Given the description of an element on the screen output the (x, y) to click on. 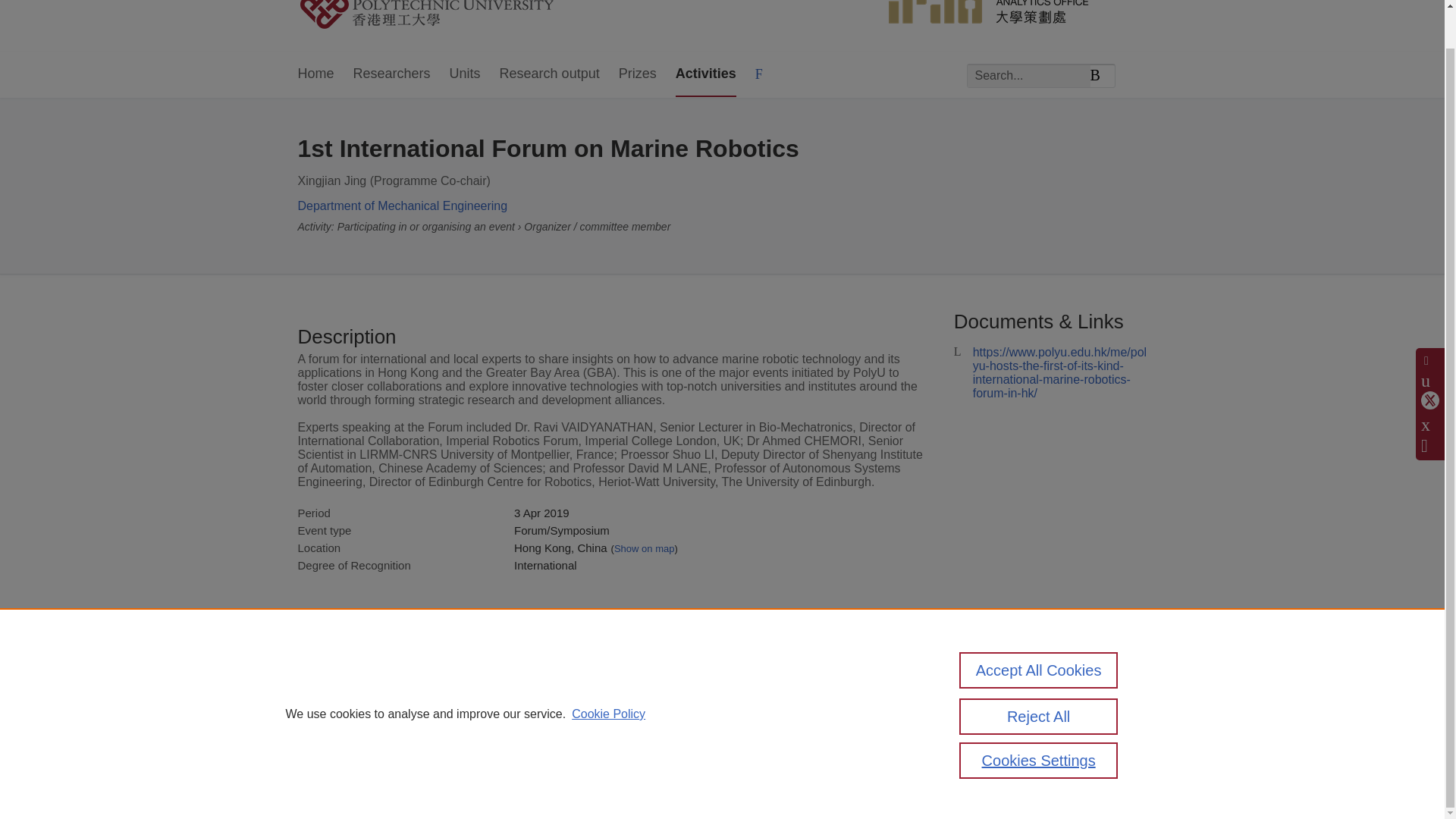
use of cookies (796, 740)
PolyU Scholars Hub data protection policy (1008, 693)
Cookies Settings (1038, 719)
Pure (362, 687)
Cookie Policy (608, 673)
Elsevier B.V. (506, 708)
PolyU Scholars Hub Home (444, 15)
Log in to Pure (327, 781)
Reject All (1038, 676)
About web accessibility (1004, 719)
